Given the description of an element on the screen output the (x, y) to click on. 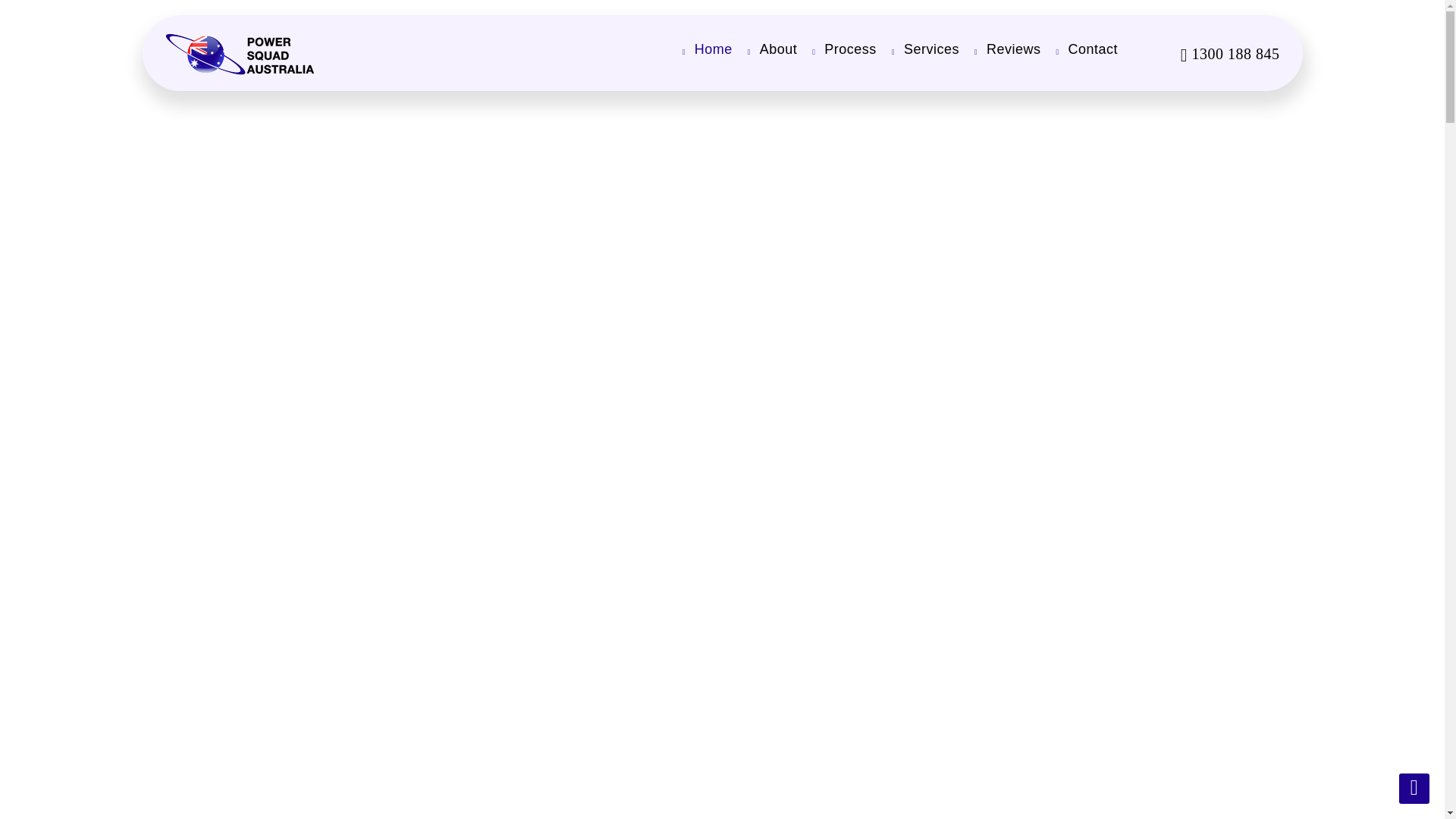
Process (836, 49)
Home (699, 49)
Contact (1079, 49)
Services (917, 49)
1300 188 845 (1235, 53)
Reviews (1000, 49)
About (764, 49)
Power Squad (239, 60)
